Given the description of an element on the screen output the (x, y) to click on. 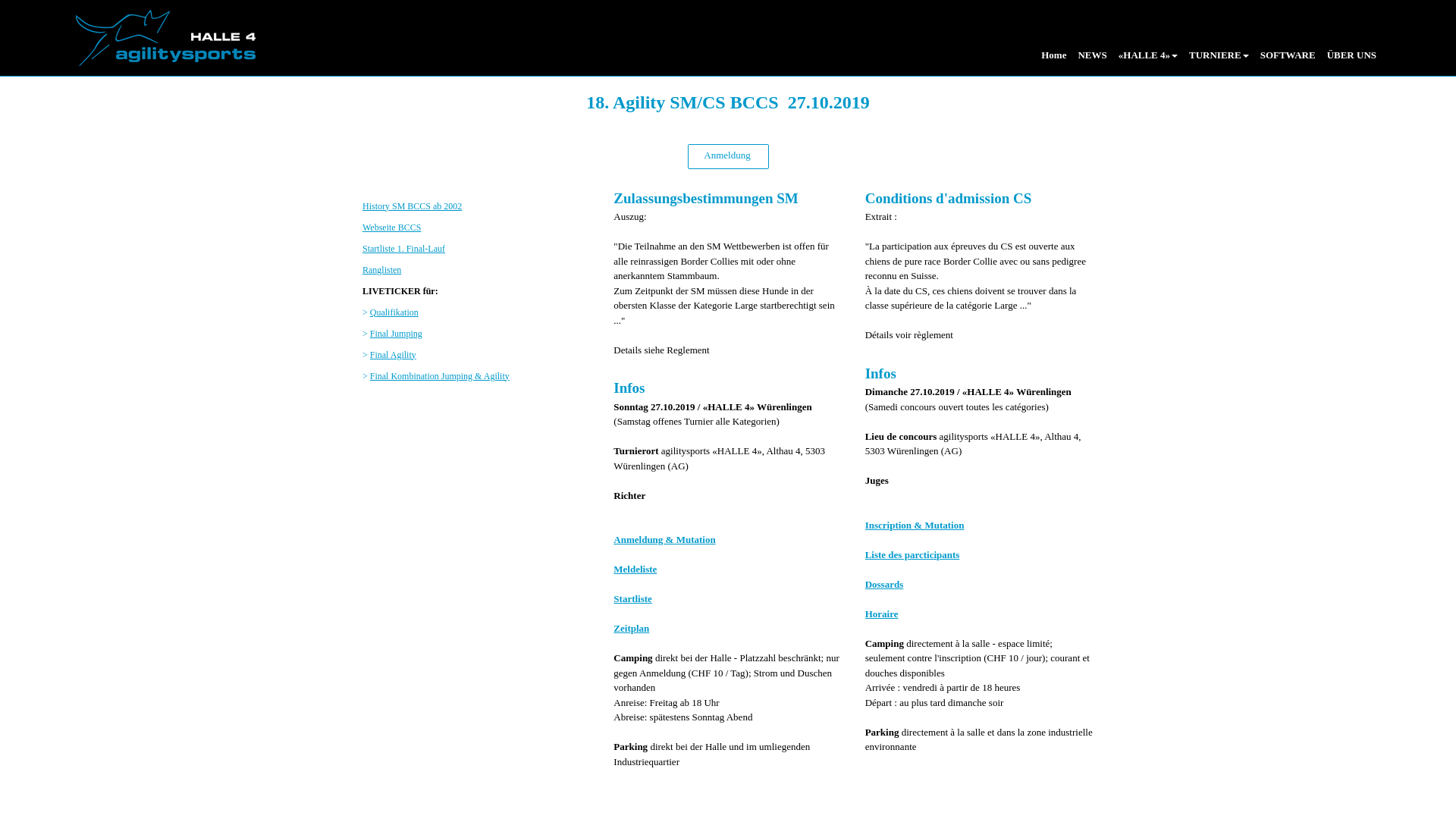
Qualifikation Element type: text (394, 311)
TURNIERE Element type: text (1216, 60)
Dossards Element type: text (884, 583)
Conditions d'admission CS Element type: text (948, 197)
Final Kombination Jumping & Agility Element type: text (439, 375)
Liste des parcticipants Element type: text (912, 554)
Inscription & Mutation Element type: text (914, 524)
Startliste 1. Final-Lauf Element type: text (403, 247)
Anmeldung Element type: text (727, 156)
Zeitplan Element type: text (631, 627)
Webseite BCCS Element type: text (391, 226)
Zulassungsbestimmungen SM Element type: text (705, 197)
Final Jumping Element type: text (396, 332)
Home Element type: text (1051, 60)
Meldeliste Element type: text (634, 568)
Final Agility Element type: text (393, 353)
History SM BCCS ab 2002 Element type: text (411, 205)
SOFTWARE Element type: text (1285, 60)
Ranglisten Element type: text (381, 268)
Anmeldung & Mutation Element type: text (664, 539)
Horaire Element type: text (881, 613)
NEWS Element type: text (1090, 60)
Startliste Element type: text (632, 598)
